Given the description of an element on the screen output the (x, y) to click on. 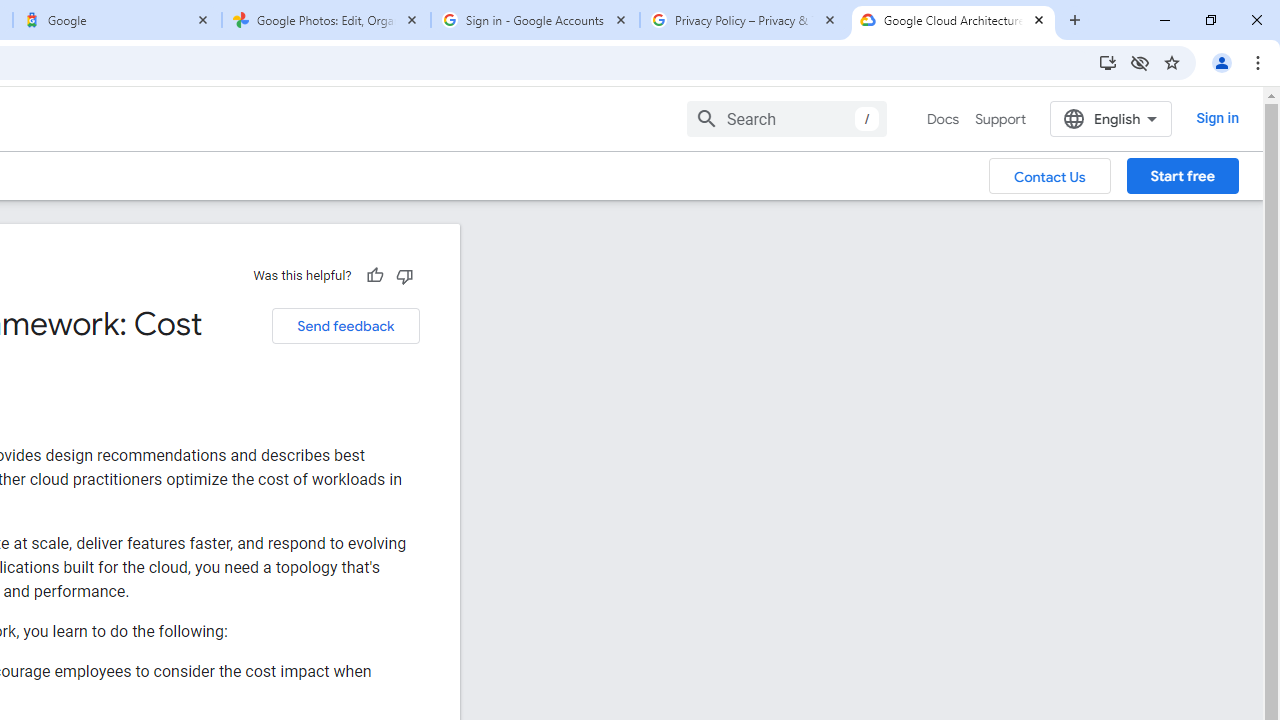
Send feedback (345, 326)
Install Google Cloud (1107, 62)
Contact Us (1050, 175)
